Given the description of an element on the screen output the (x, y) to click on. 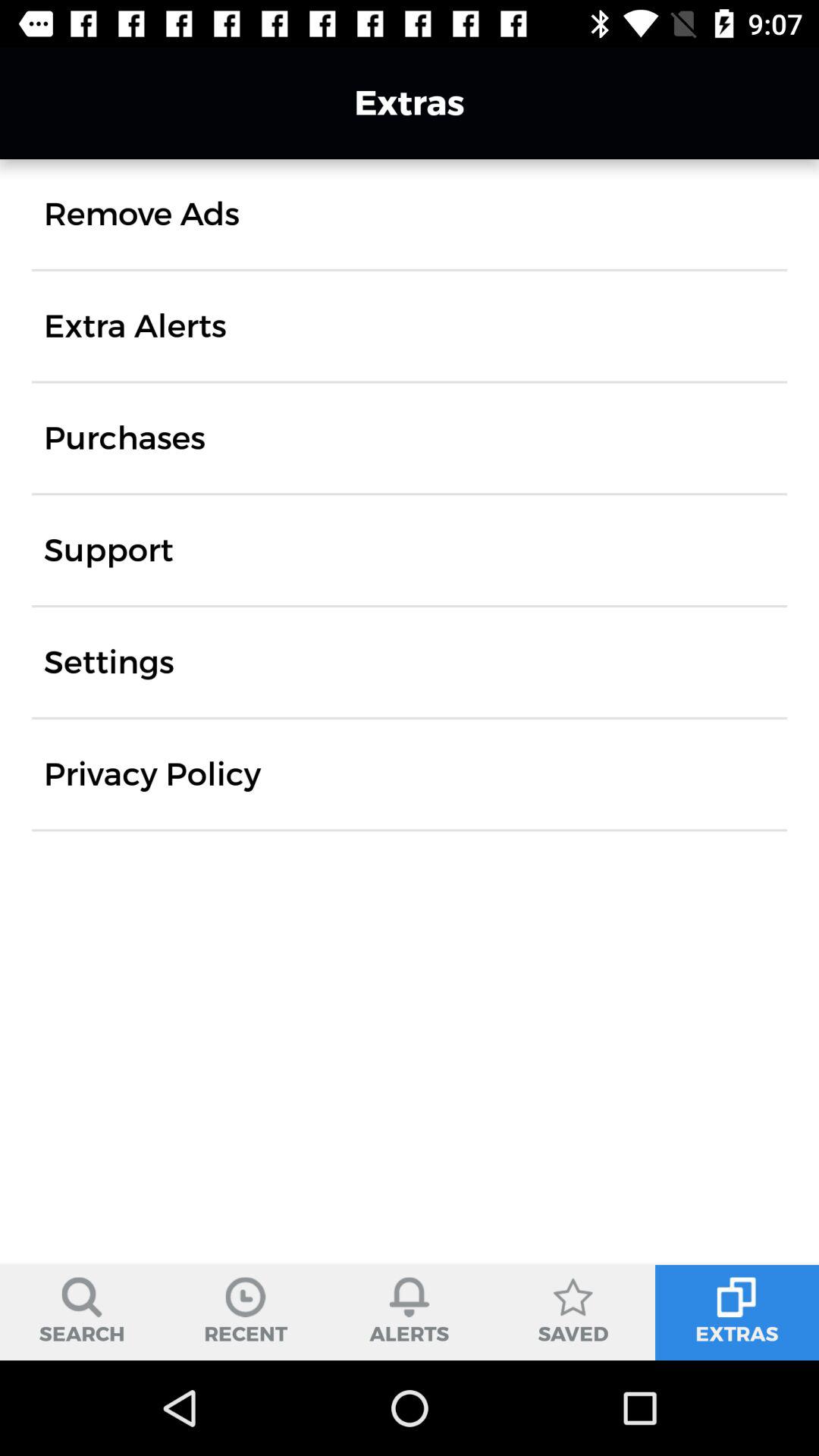
choose the item below the extras item (141, 214)
